Given the description of an element on the screen output the (x, y) to click on. 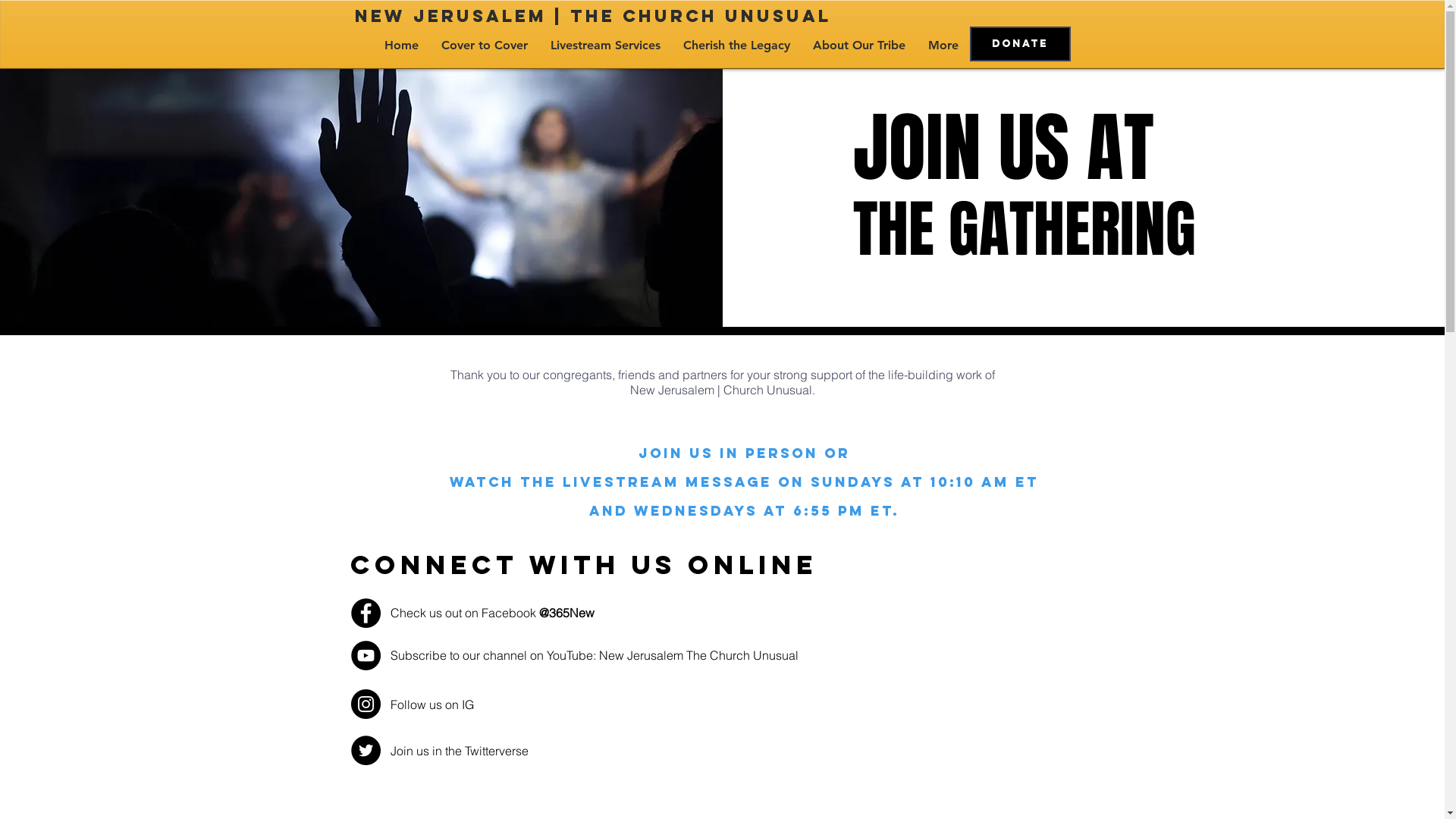
Livestream Services Element type: text (604, 45)
About Our Tribe Element type: text (858, 45)
Home Element type: text (401, 45)
Cover to Cover Element type: text (483, 45)
Cherish the Legacy Element type: text (736, 45)
DONATE Element type: text (1019, 43)
